Given the description of an element on the screen output the (x, y) to click on. 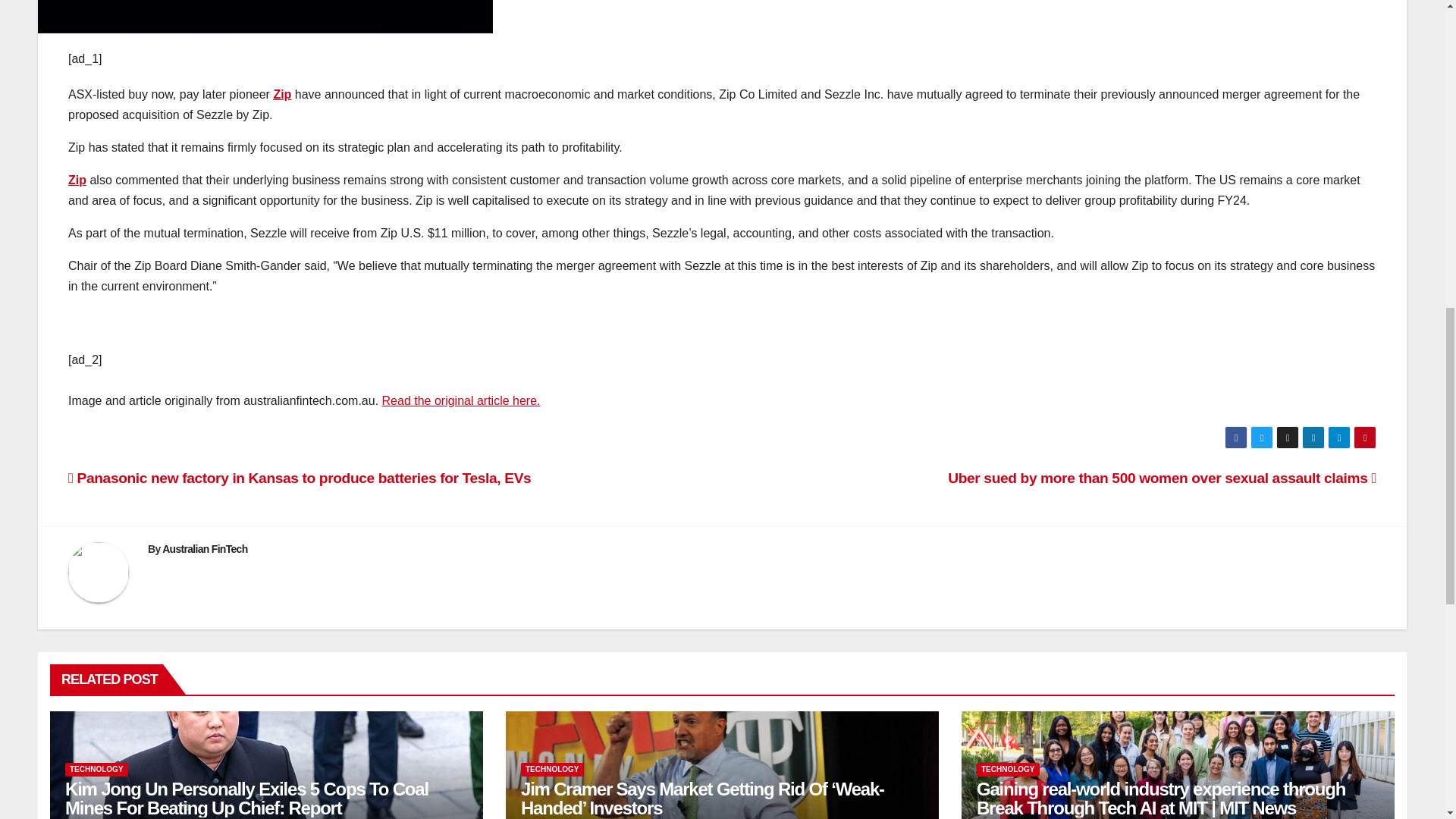
TECHNOLOGY (1007, 769)
TECHNOLOGY (96, 769)
Zip (282, 93)
TECHNOLOGY (552, 769)
Australian FinTech (204, 548)
Zip (76, 179)
Uber sued by more than 500 women over sexual assault claims (1161, 478)
Read the original article here. (460, 400)
